Given the description of an element on the screen output the (x, y) to click on. 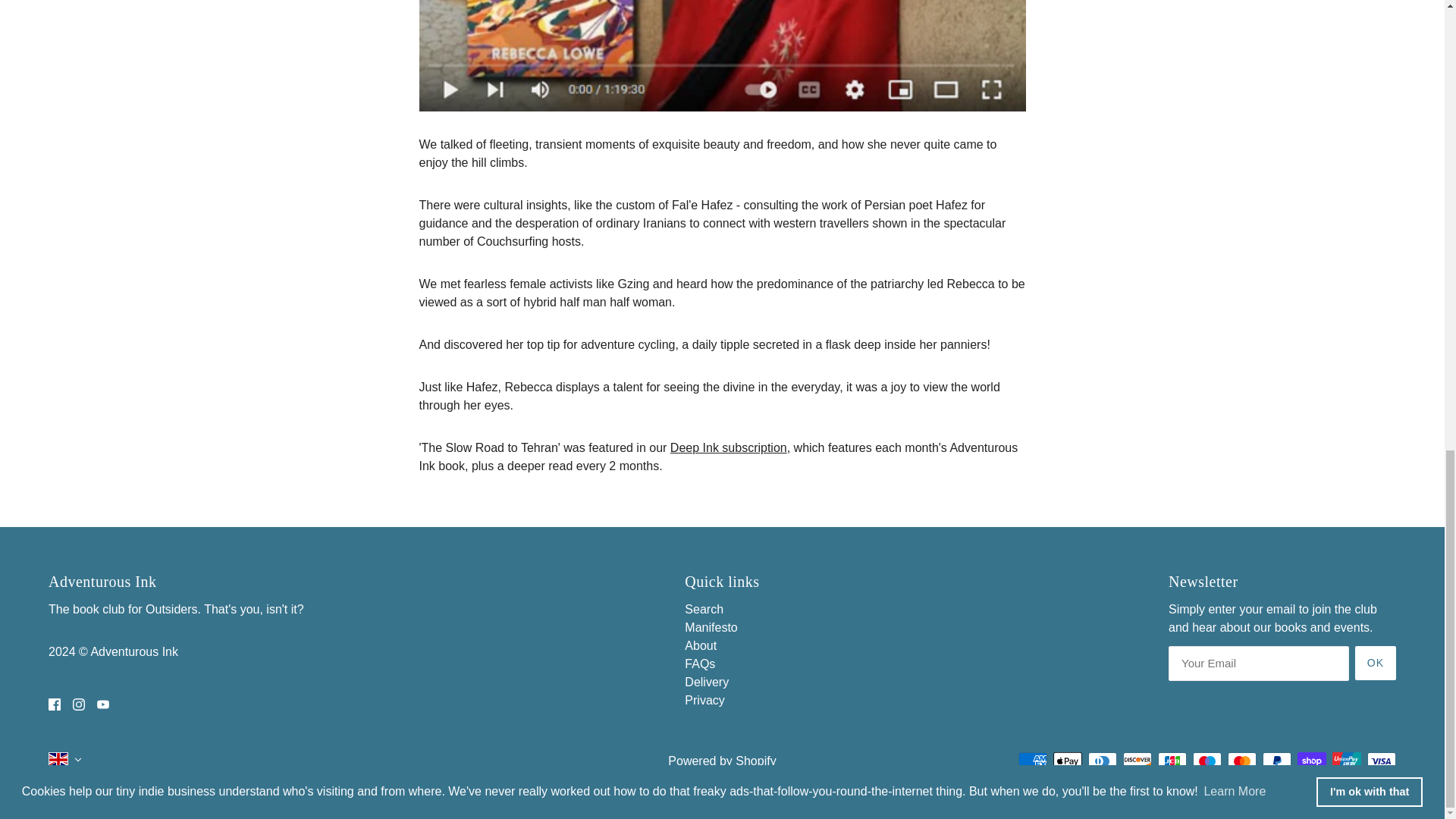
Maestro (1206, 761)
Delivery (706, 681)
Visa (1381, 761)
American Express (1031, 761)
Apple Pay (1066, 761)
About (700, 645)
Discover (1136, 761)
Discover Deep Ink (728, 447)
Manifesto (710, 626)
FAQs (699, 663)
Privacy (703, 699)
About (700, 645)
Delivery (706, 681)
Search (703, 608)
PayPal (1276, 761)
